Given the description of an element on the screen output the (x, y) to click on. 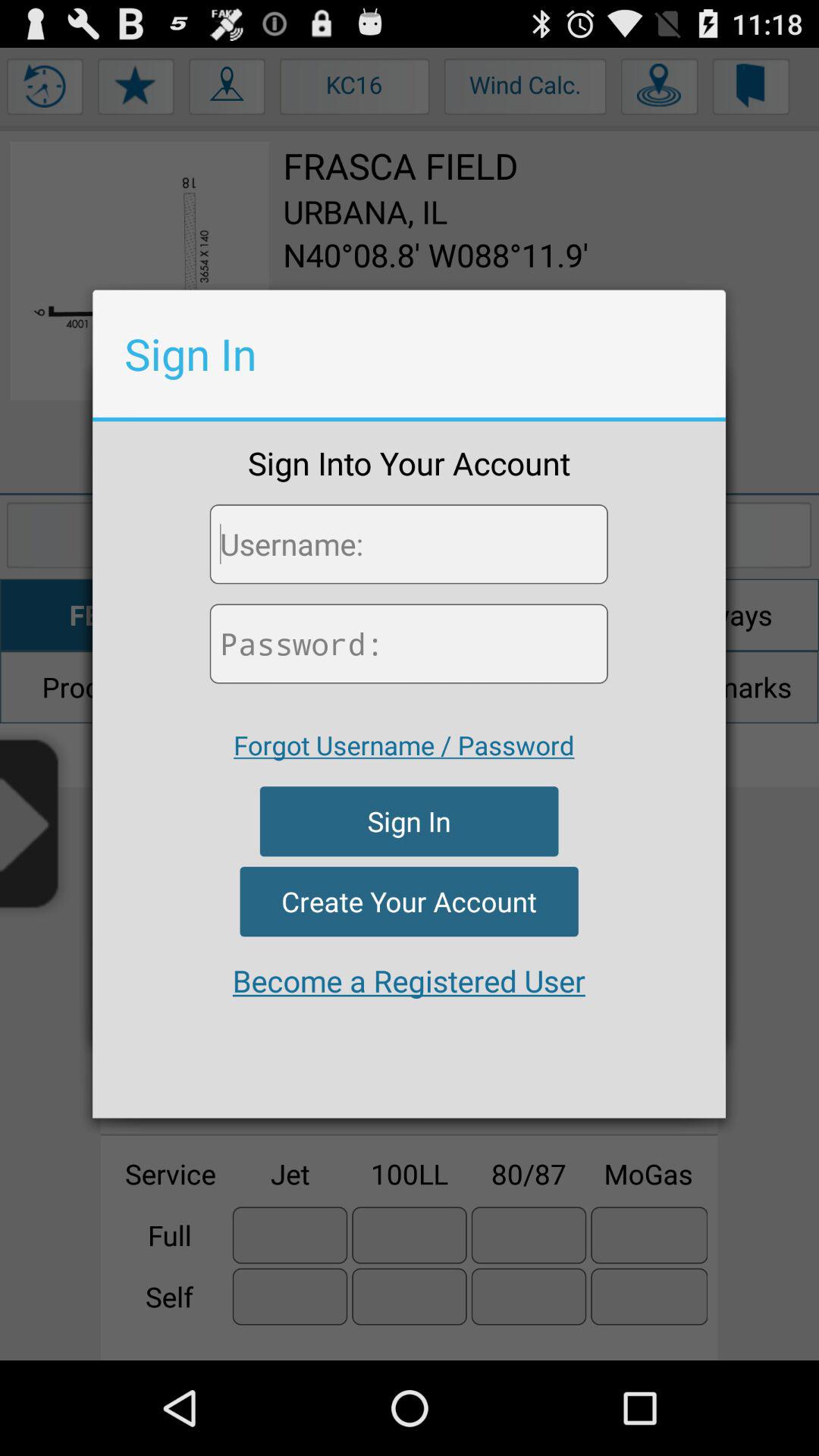
select the button above sign in (403, 744)
